Given the description of an element on the screen output the (x, y) to click on. 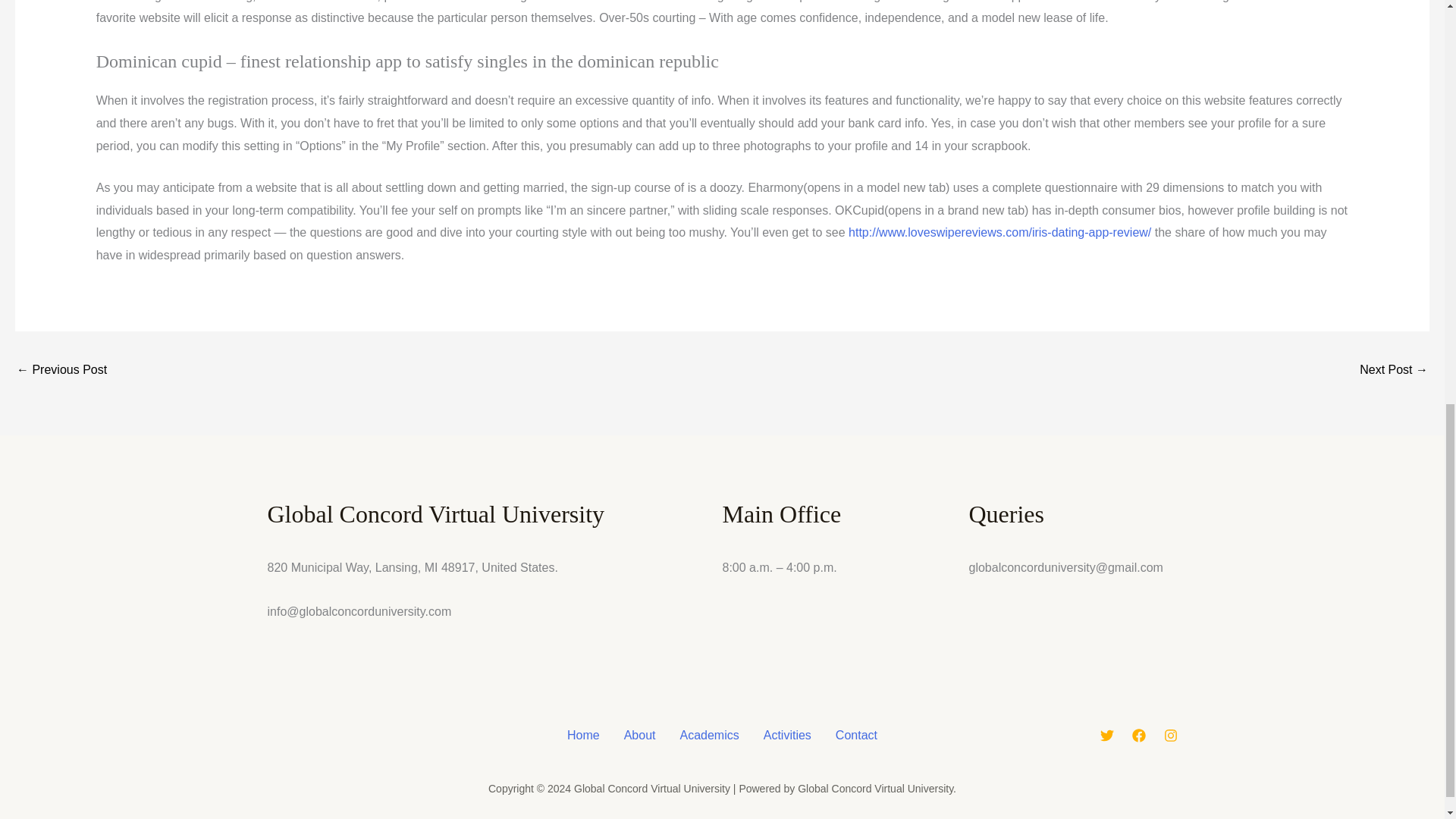
Academics (708, 734)
About (639, 734)
Contact (856, 734)
Home (582, 734)
How To Know When Its The Proper Age To Have A Boyfriend (61, 370)
Activities (787, 734)
